Given the description of an element on the screen output the (x, y) to click on. 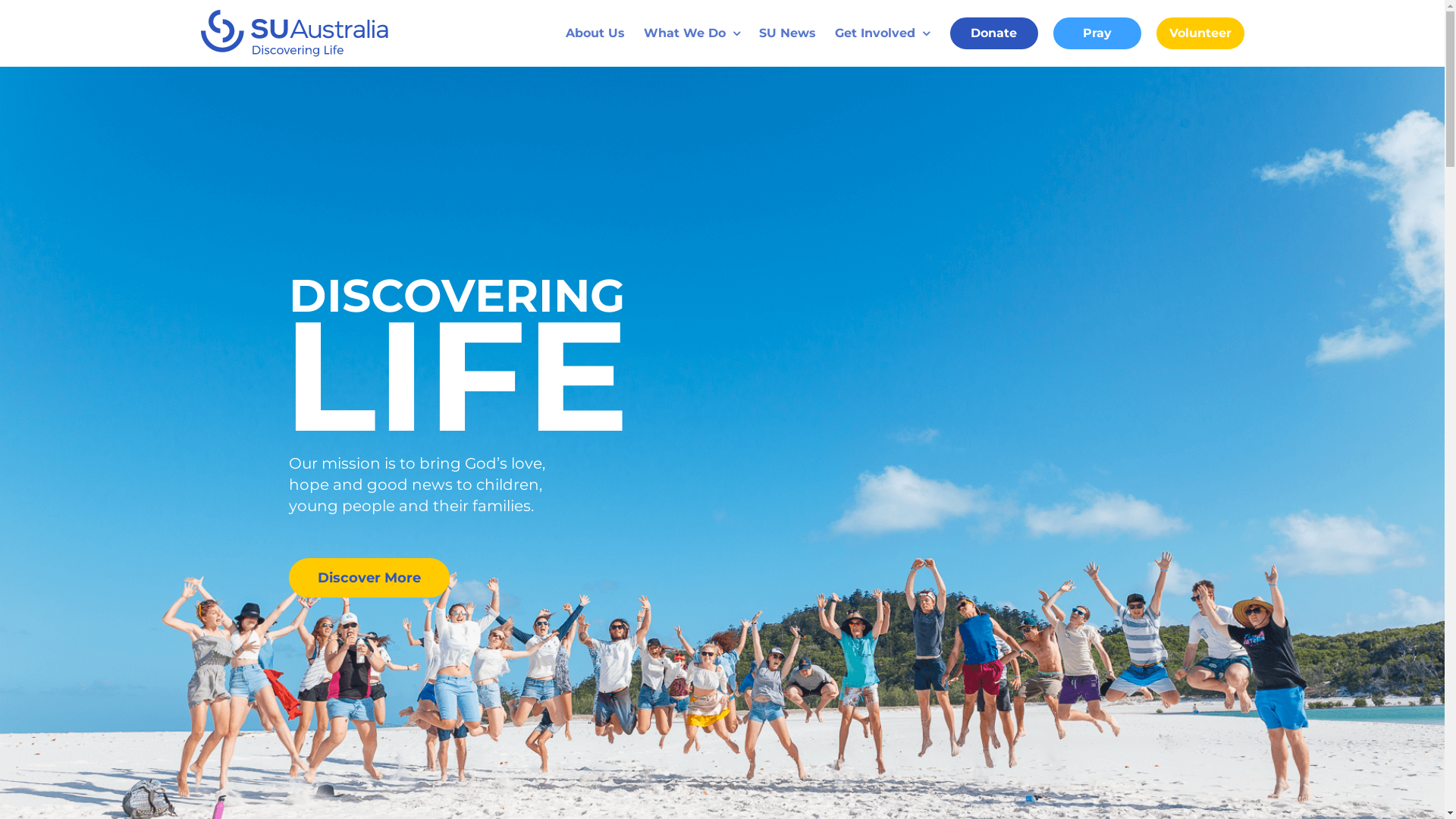
Donate Element type: text (993, 33)
About Us Element type: text (594, 33)
SU News Element type: text (786, 33)
What We Do Element type: text (691, 33)
Volunteer Element type: text (1199, 33)
Get Involved Element type: text (881, 33)
Pray Element type: text (1096, 33)
Discover More Element type: text (368, 577)
